Given the description of an element on the screen output the (x, y) to click on. 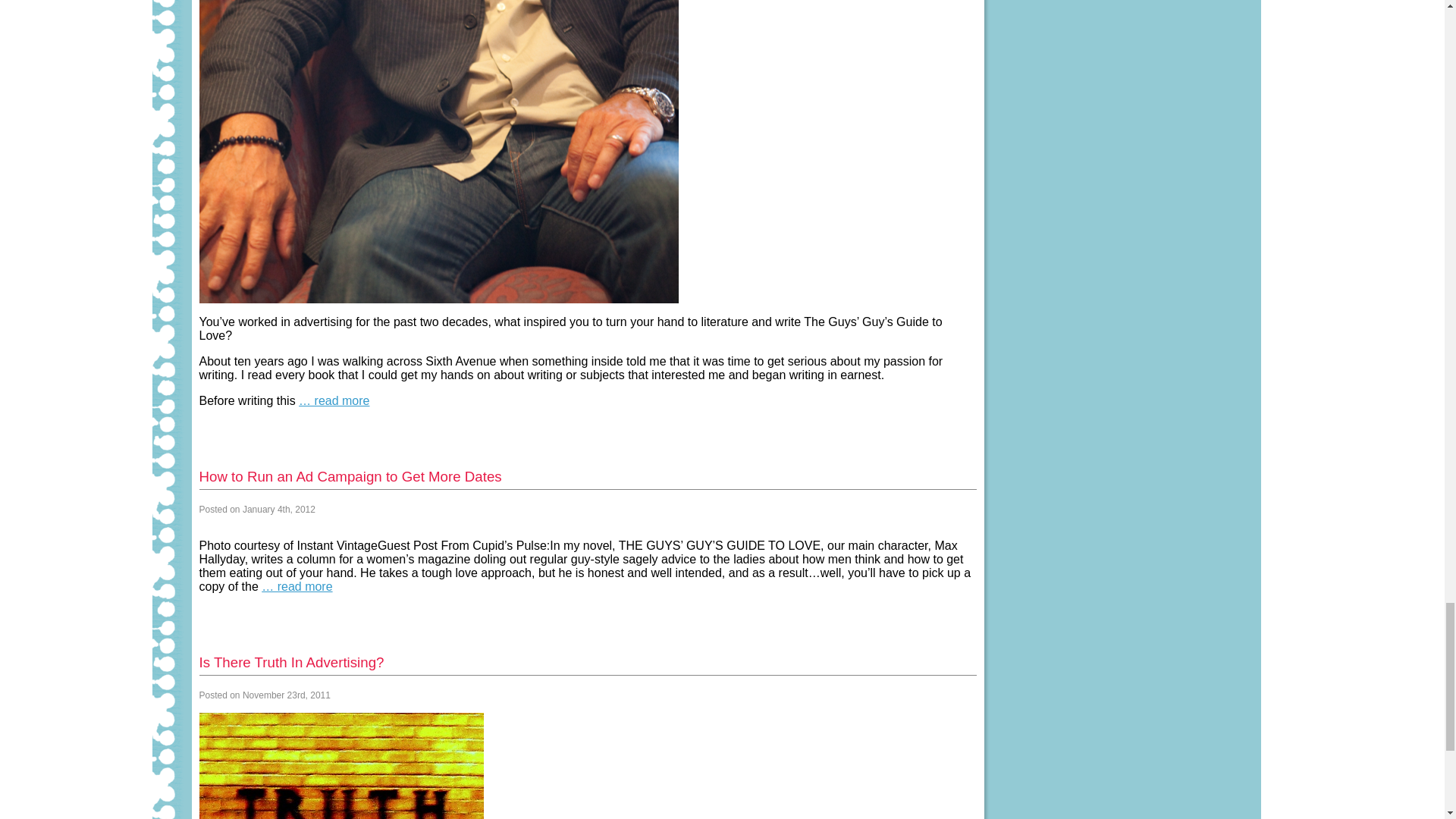
How to Run an Ad Campaign to Get More Dates (349, 476)
Is There Truth In Advertising? (291, 662)
How to Run an Ad Campaign to Get More Dates (349, 476)
Is There Truth In Advertising? (291, 662)
